Given the description of an element on the screen output the (x, y) to click on. 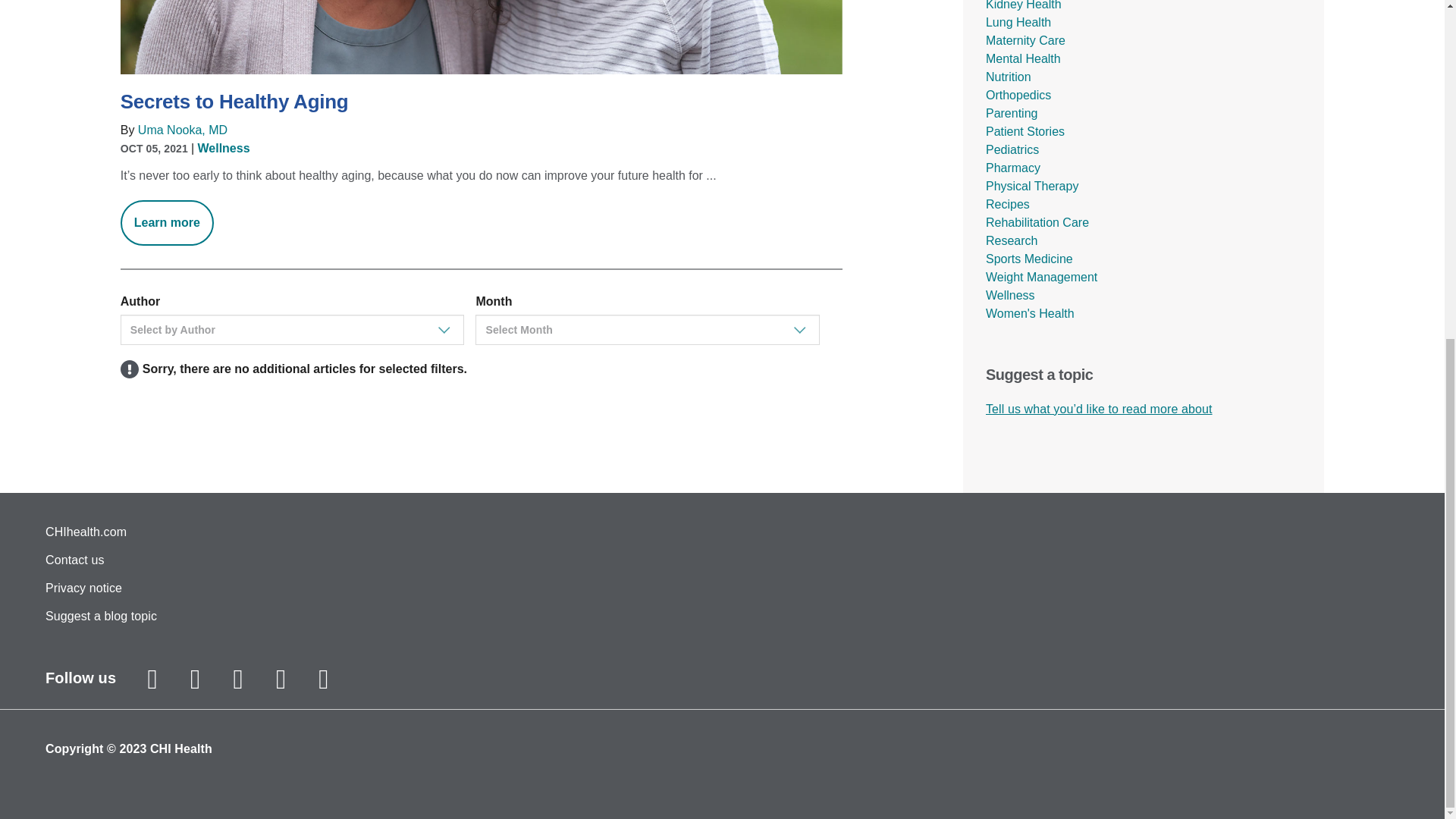
Maternity Care (1025, 40)
Lung Health (1018, 21)
CHI Health Youtube page (280, 678)
Parenting (1011, 113)
Kidney Health (1023, 5)
CHI Health Instagram page (151, 678)
Mental Health (1023, 58)
Secrets to Healthy Aging (481, 101)
Nutrition (1007, 76)
